Given the description of an element on the screen output the (x, y) to click on. 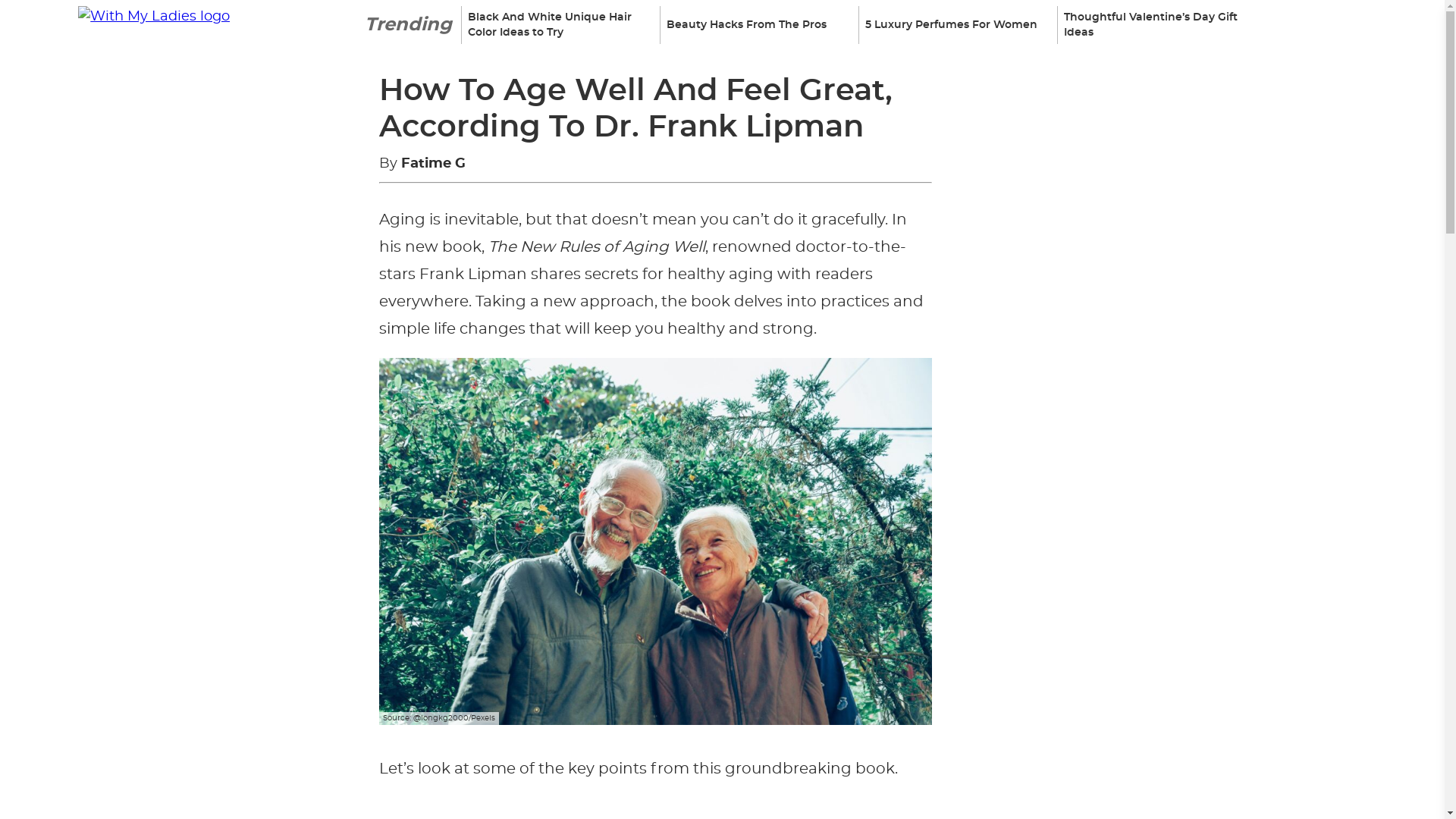
Beauty Hacks From The Pros (753, 24)
5 Luxury Perfumes For Women (953, 24)
Black And White Unique Hair Color Ideas to Try  (555, 24)
